Given the description of an element on the screen output the (x, y) to click on. 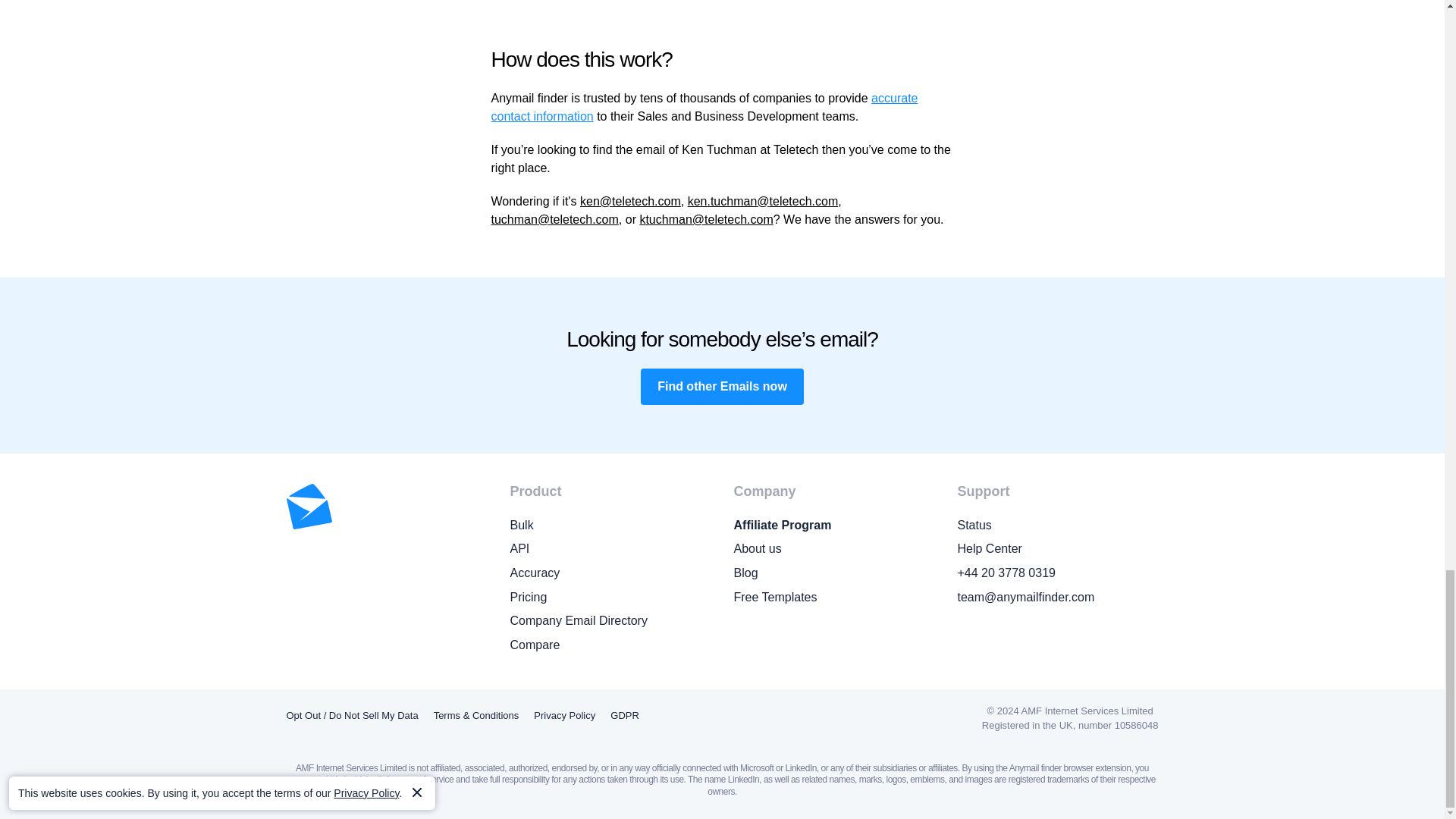
accurate contact information (705, 106)
API (609, 548)
Bulk (609, 525)
Accuracy (609, 573)
Find other Emails now (721, 386)
